Given the description of an element on the screen output the (x, y) to click on. 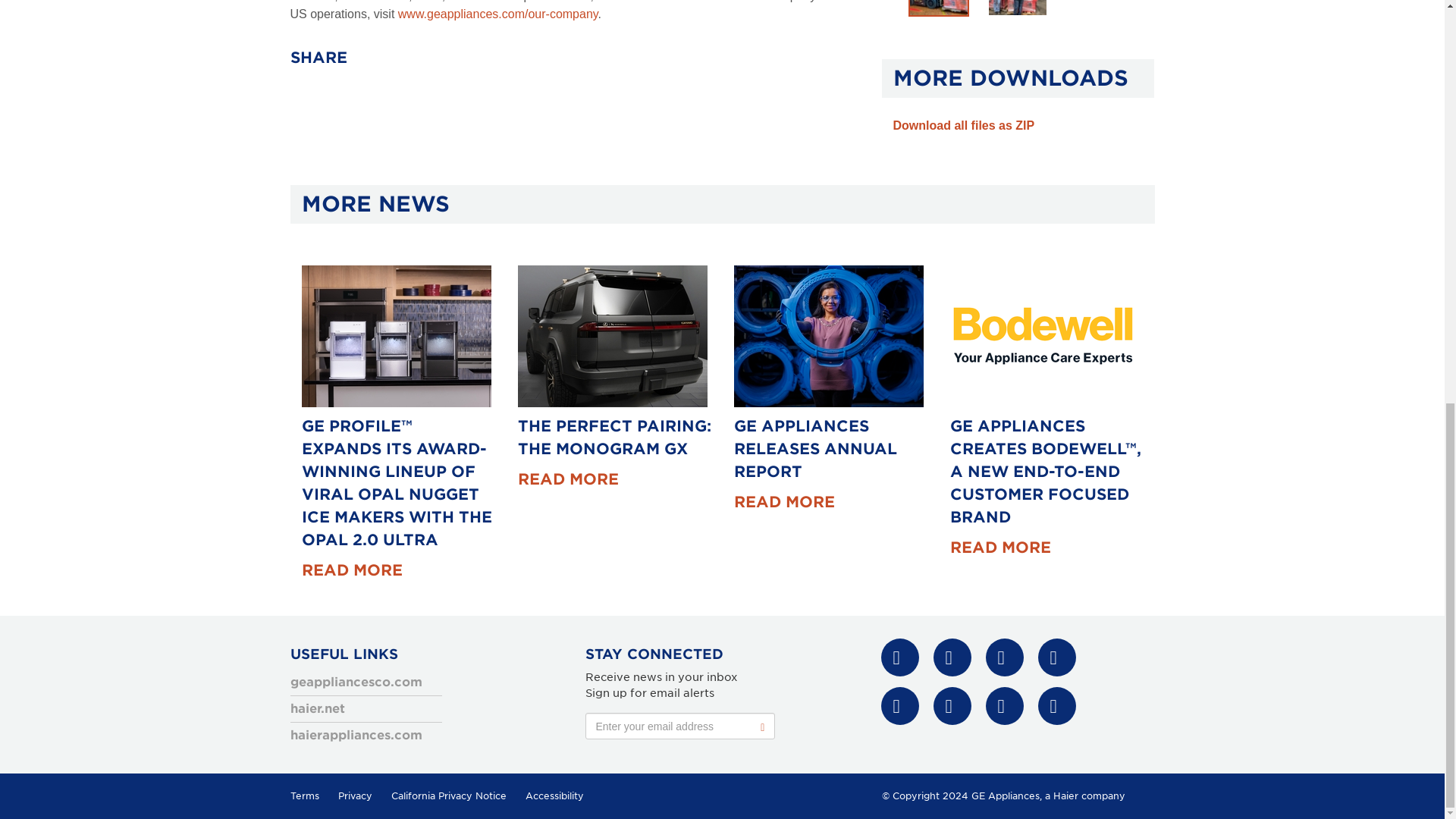
geappliancesco.com (355, 681)
haier.net (316, 708)
Google Plus (1056, 657)
Roper Team Receives Generators After Storms (1017, 8)
GE APPLIANCES RELEASES ANNUAL REPORT (814, 448)
Twitter (952, 657)
READ MORE (566, 479)
The Monogram GX (611, 336)
Instagram (952, 705)
haierappliances.com (355, 735)
THE PERFECT PAIRING: THE MONOGRAM GX (613, 436)
Facebook (899, 657)
GE Profile Opal 2.0 Ultra Line-Up (396, 336)
Pinterest (899, 705)
Download all files as ZIP (964, 124)
